Given the description of an element on the screen output the (x, y) to click on. 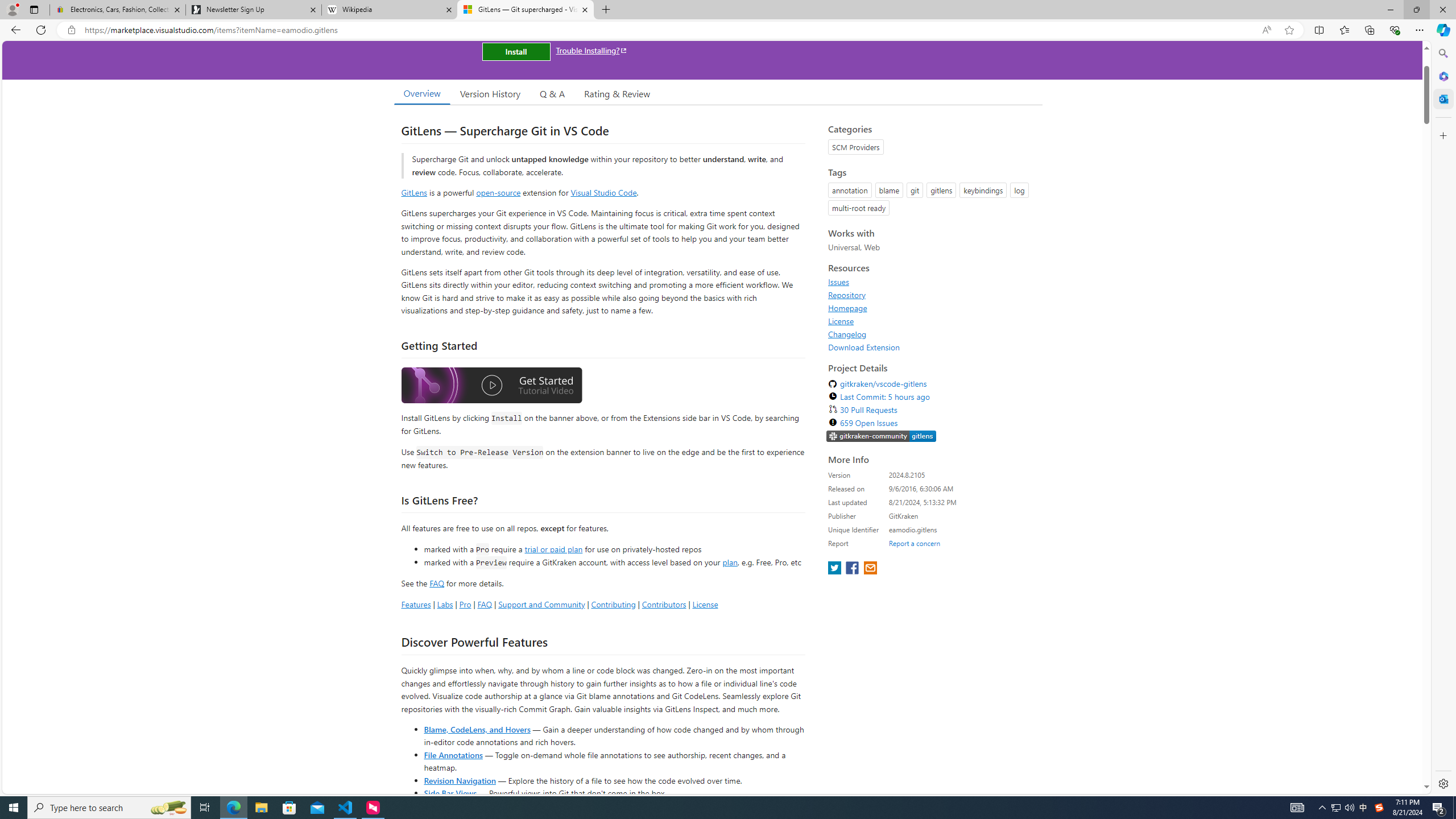
License (840, 320)
Side Bar Views (449, 792)
GitLens (414, 192)
Rating & Review (618, 92)
trial or paid plan (553, 548)
